Given the description of an element on the screen output the (x, y) to click on. 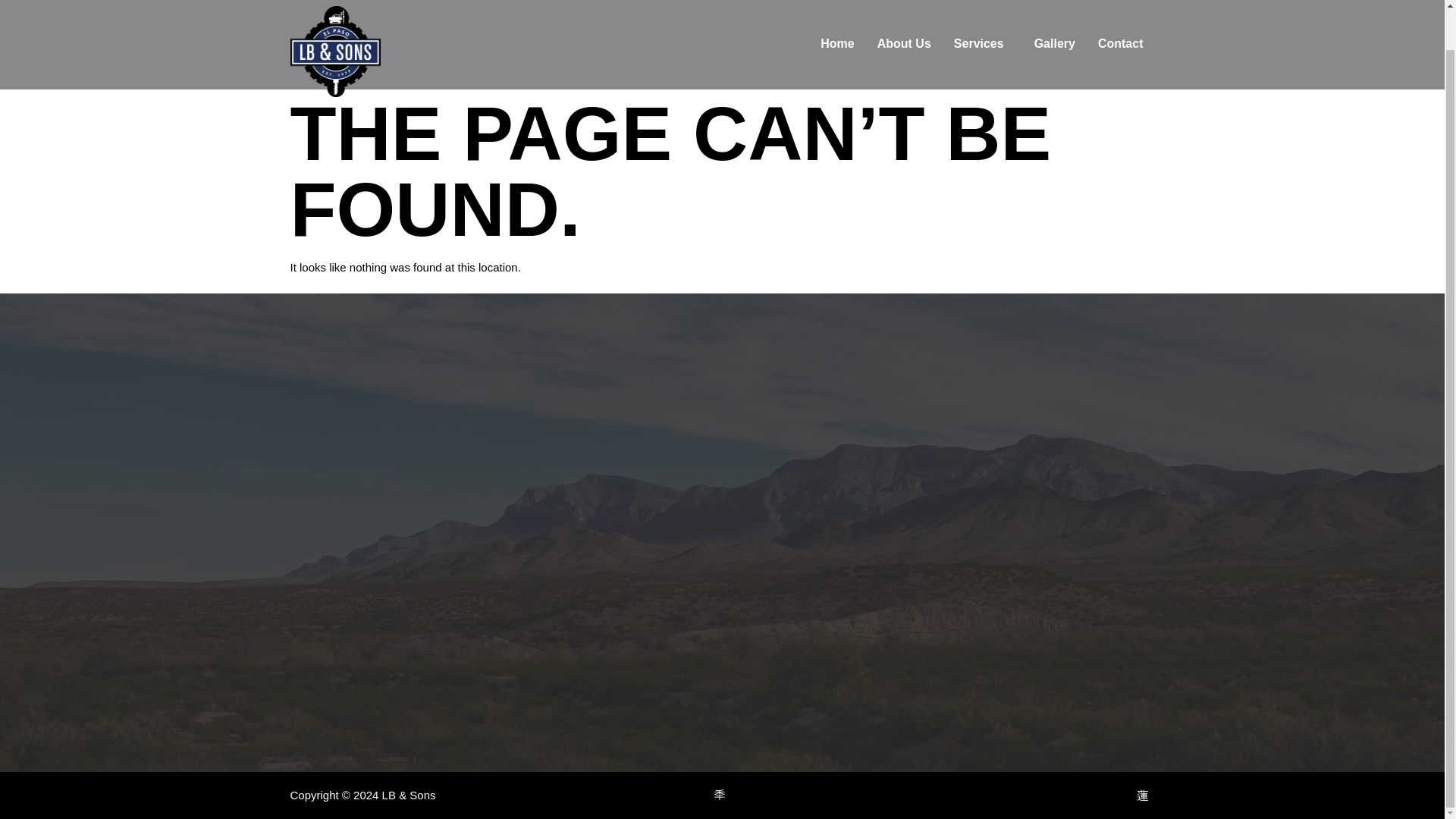
Home (836, 43)
Gallery (1054, 43)
About Us (904, 43)
Contact (1120, 43)
Services (982, 43)
